Given the description of an element on the screen output the (x, y) to click on. 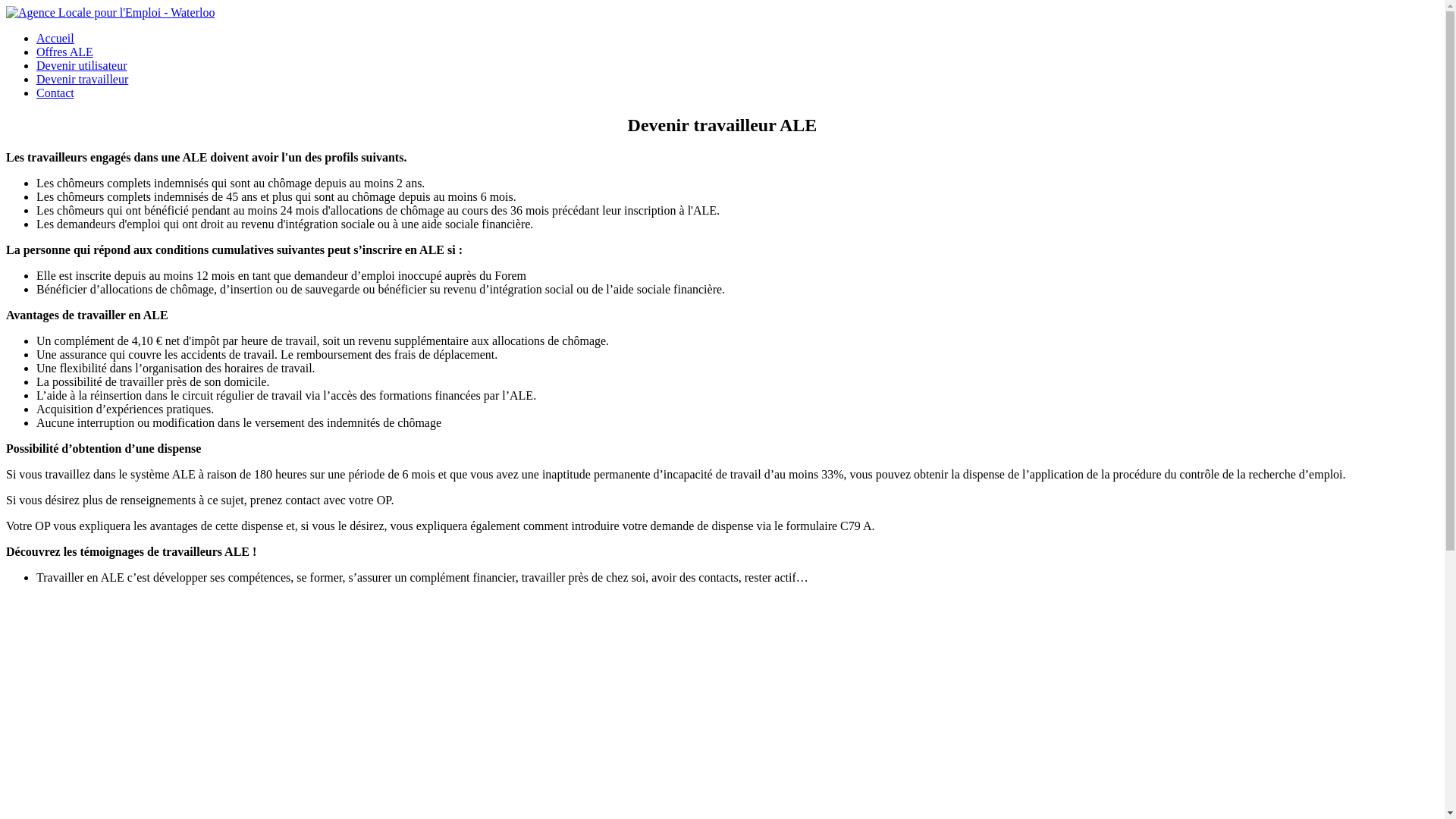
Accueil Element type: text (55, 37)
Devenir utilisateur Element type: text (81, 65)
Contact Element type: text (55, 92)
Offres ALE Element type: text (64, 51)
Devenir travailleur Element type: text (82, 78)
